Given the description of an element on the screen output the (x, y) to click on. 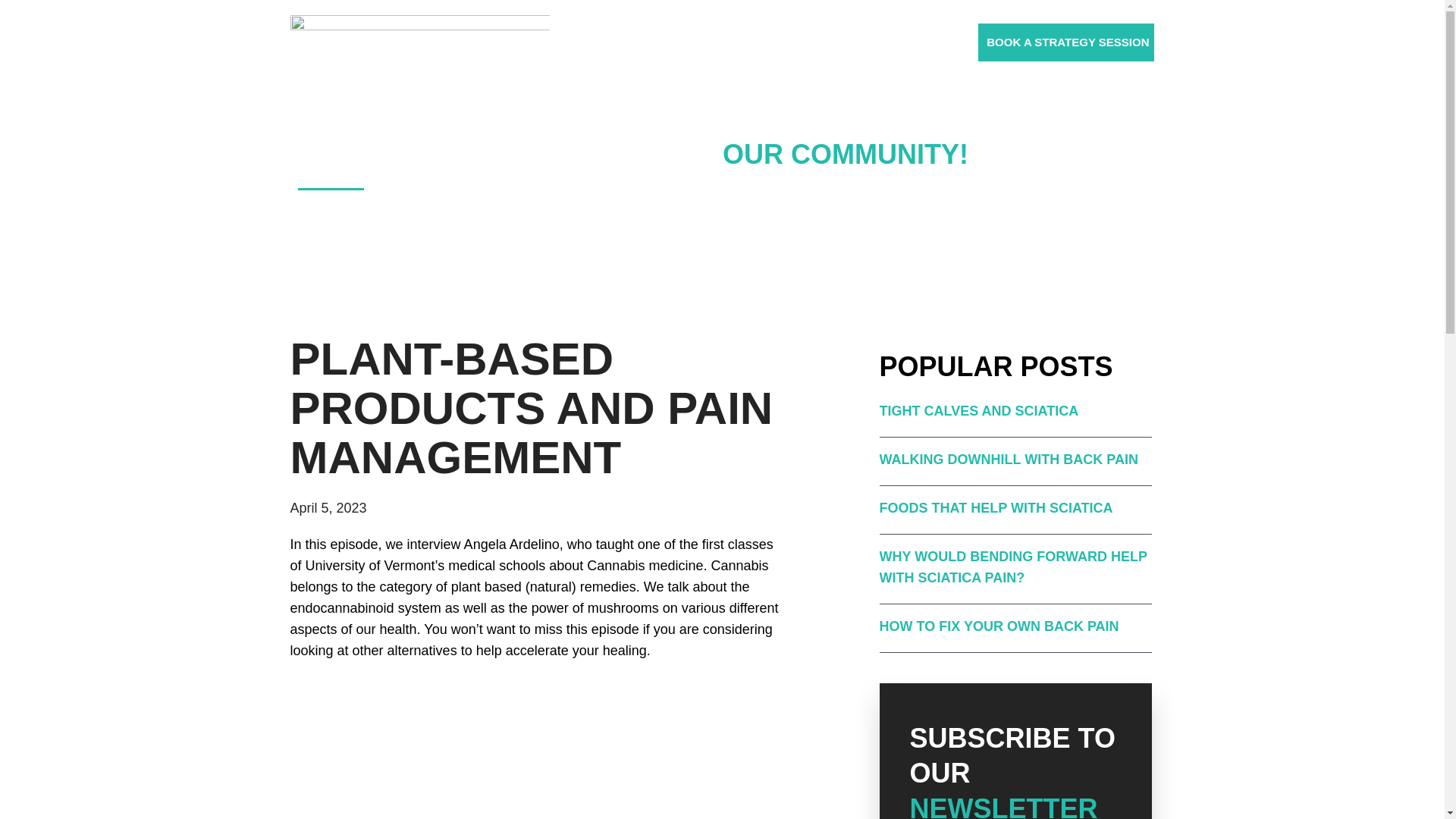
ABOUT (614, 42)
HOW TO FIX YOUR OWN BACK PAIN (999, 626)
WHY WOULD BENDING FORWARD HELP WITH SCIATICA PAIN? (1013, 566)
WALKING DOWNHILL WITH BACK PAIN (1008, 459)
BLOG (752, 42)
TIGHT CALVES AND SCIATICA (978, 410)
BOOK A STRATEGY SESSION (1067, 42)
DOWNLOAD YOUR FREE EBOOK (878, 42)
FOODS THAT HELP WITH SCIATICA (996, 507)
Plant-based Products and Pain Management (536, 751)
PROGRAMS (684, 42)
